Given the description of an element on the screen output the (x, y) to click on. 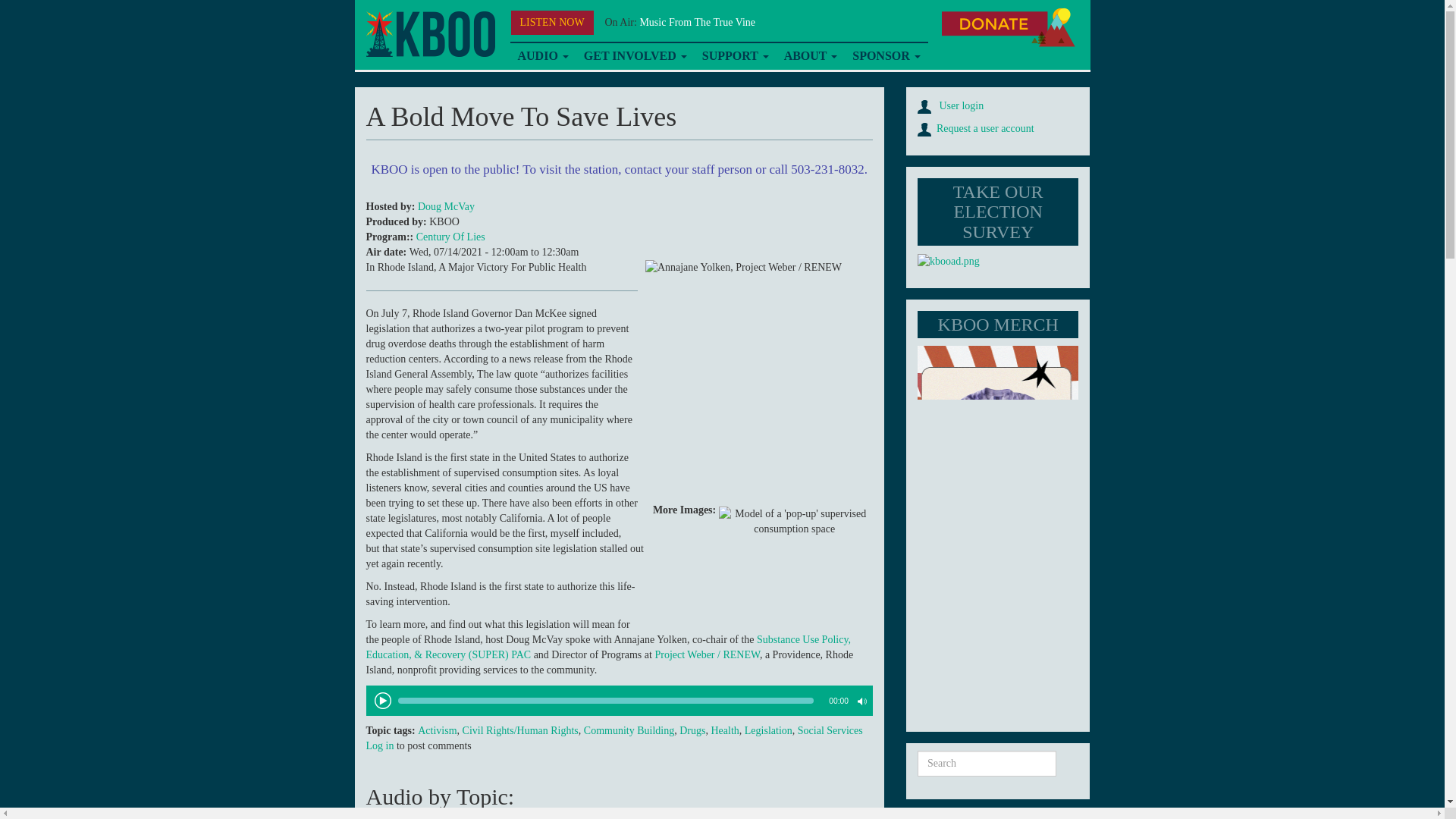
SUPPORT (735, 55)
Music From The True Vine (697, 21)
GET INVOLVED (635, 55)
AUDIO (542, 55)
LISTEN NOW (551, 22)
Home (430, 34)
ABOUT (810, 55)
